Given the description of an element on the screen output the (x, y) to click on. 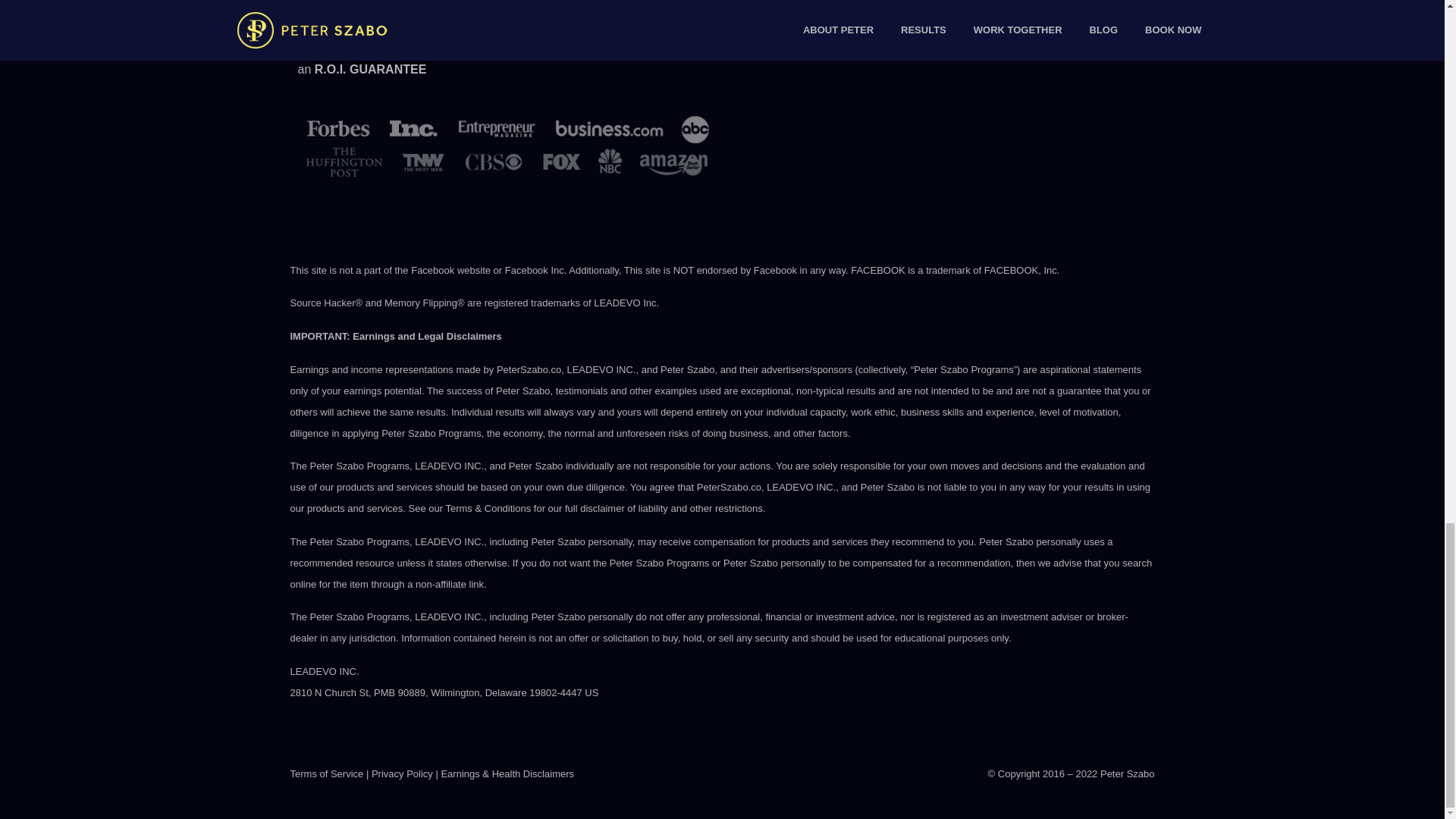
Privacy Policy (401, 773)
Terms of Service (325, 773)
